Given the description of an element on the screen output the (x, y) to click on. 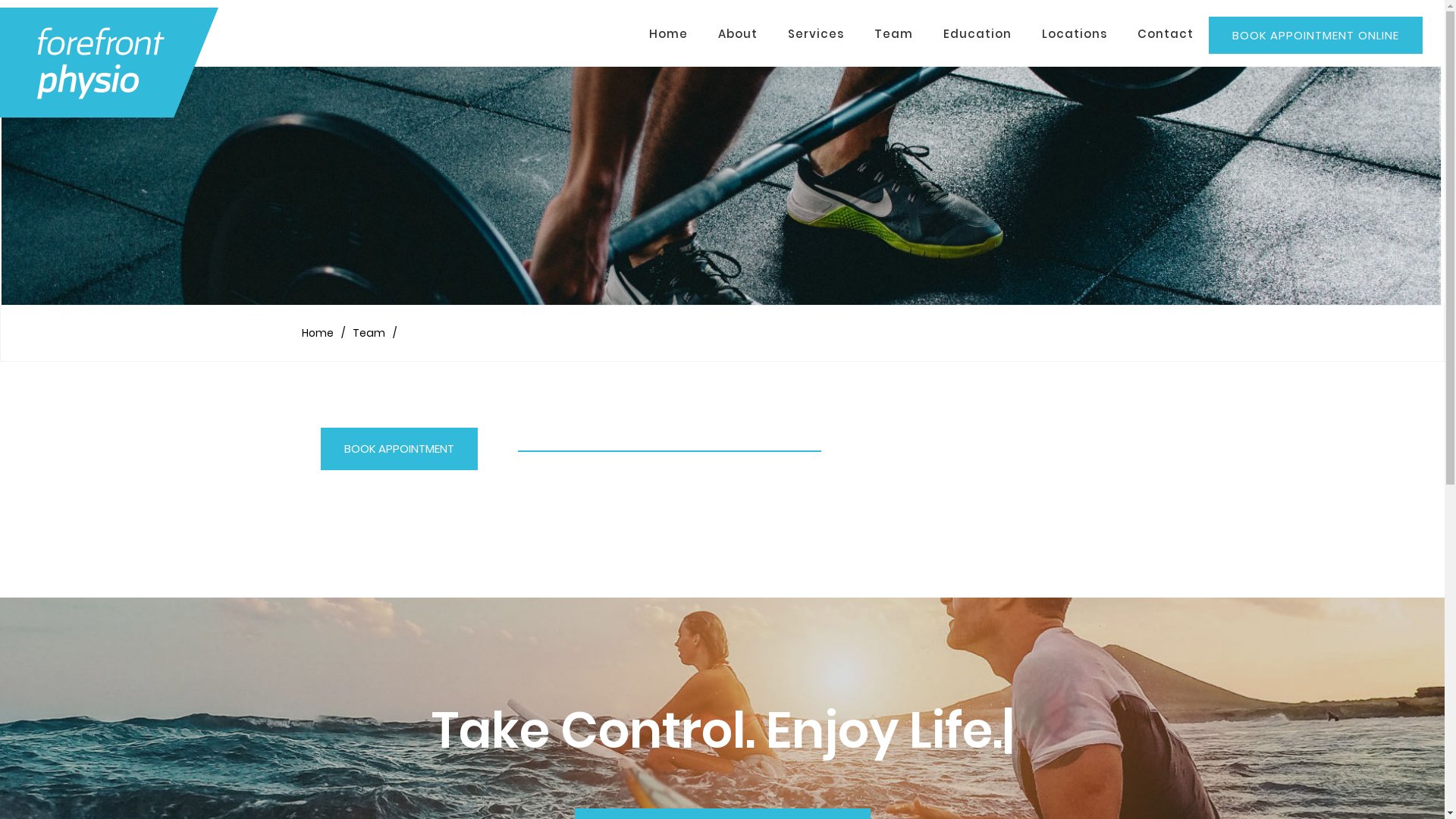
BOOK APPOINTMENT ONLINE Element type: text (1315, 34)
Locations Element type: text (1074, 34)
Contact Element type: text (1165, 34)
About Element type: text (737, 34)
Home Element type: text (668, 34)
Services Element type: text (815, 34)
Education Element type: text (977, 34)
Team Element type: text (367, 332)
BOOK APPOINTMENT Element type: text (398, 448)
Team Element type: text (893, 34)
Home Element type: text (317, 332)
